Given the description of an element on the screen output the (x, y) to click on. 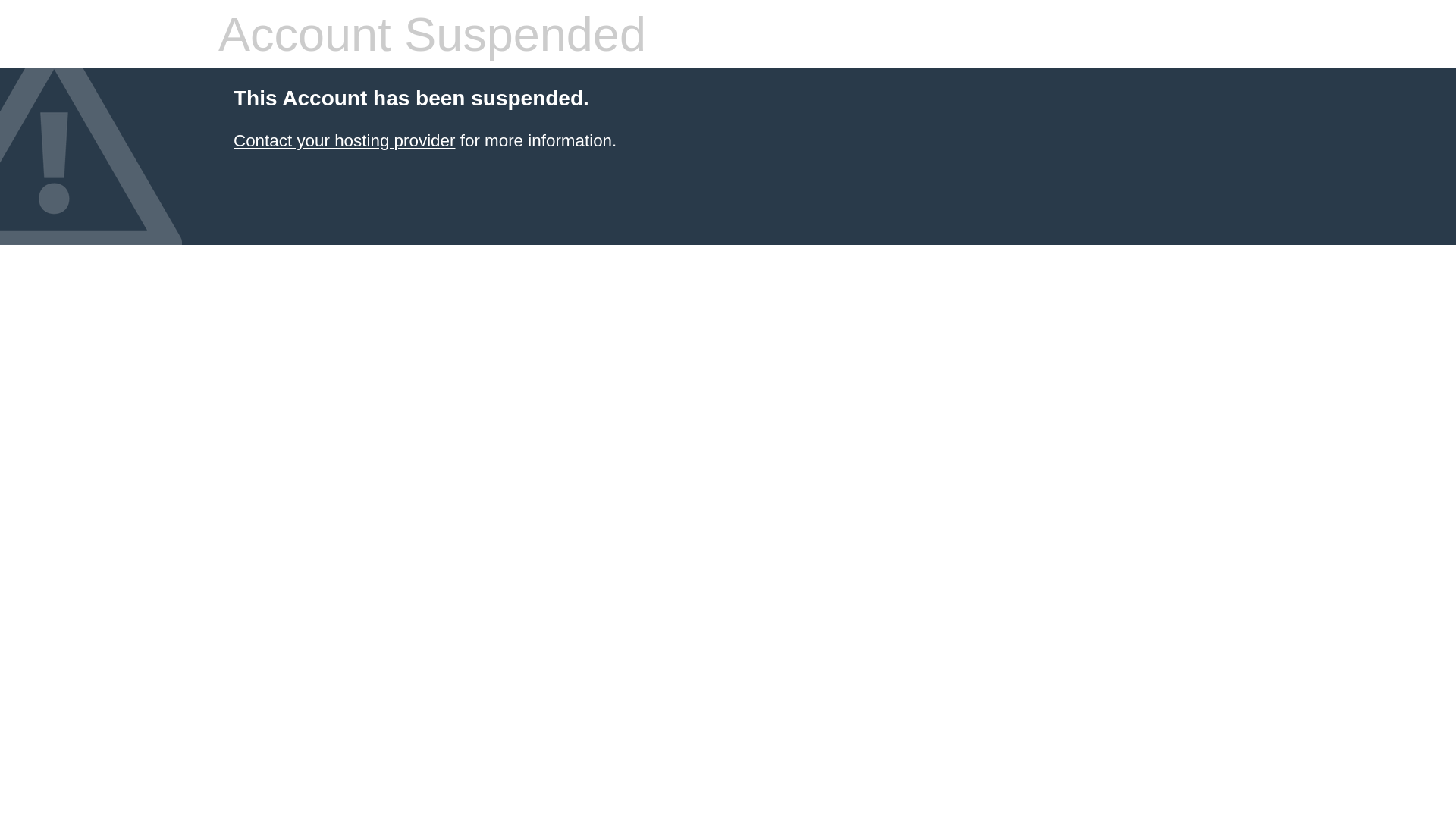
Contact your hosting provider Element type: text (344, 140)
